Given the description of an element on the screen output the (x, y) to click on. 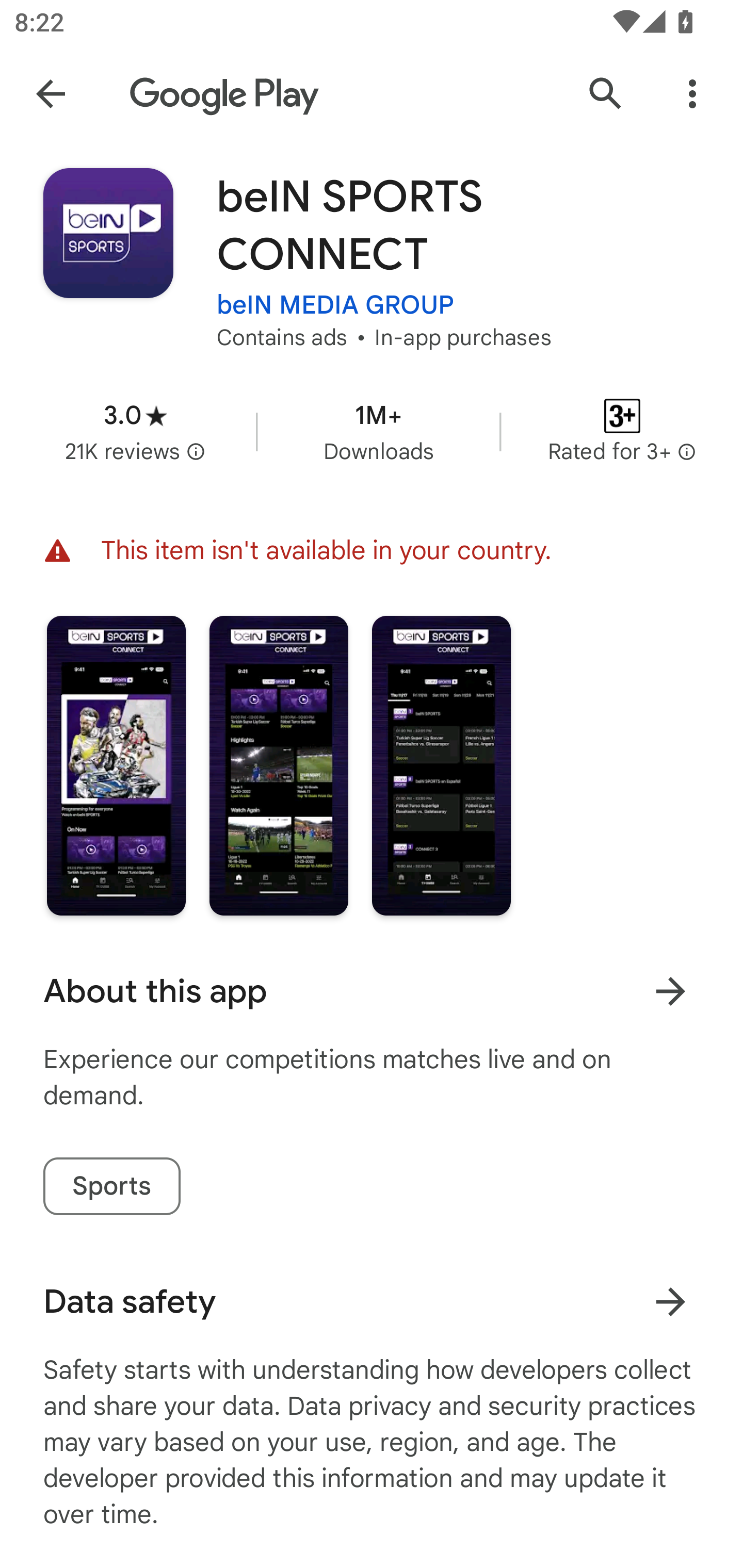
Navigate up (50, 93)
Search Google Play (605, 93)
More Options (692, 93)
beIN MEDIA GROUP (334, 304)
Average rating 3.0 stars in 21 thousand reviews (135, 431)
Content rating Rated for 3+ (622, 431)
Screenshot "1" of "3" (115, 765)
Screenshot "2" of "3" (278, 765)
Screenshot "3" of "3" (441, 765)
About this app Learn more About this app (371, 990)
Learn more About this app (670, 991)
Sports tag (111, 1186)
Data safety Learn more about data safety (371, 1301)
Learn more about data safety (670, 1302)
